Given the description of an element on the screen output the (x, y) to click on. 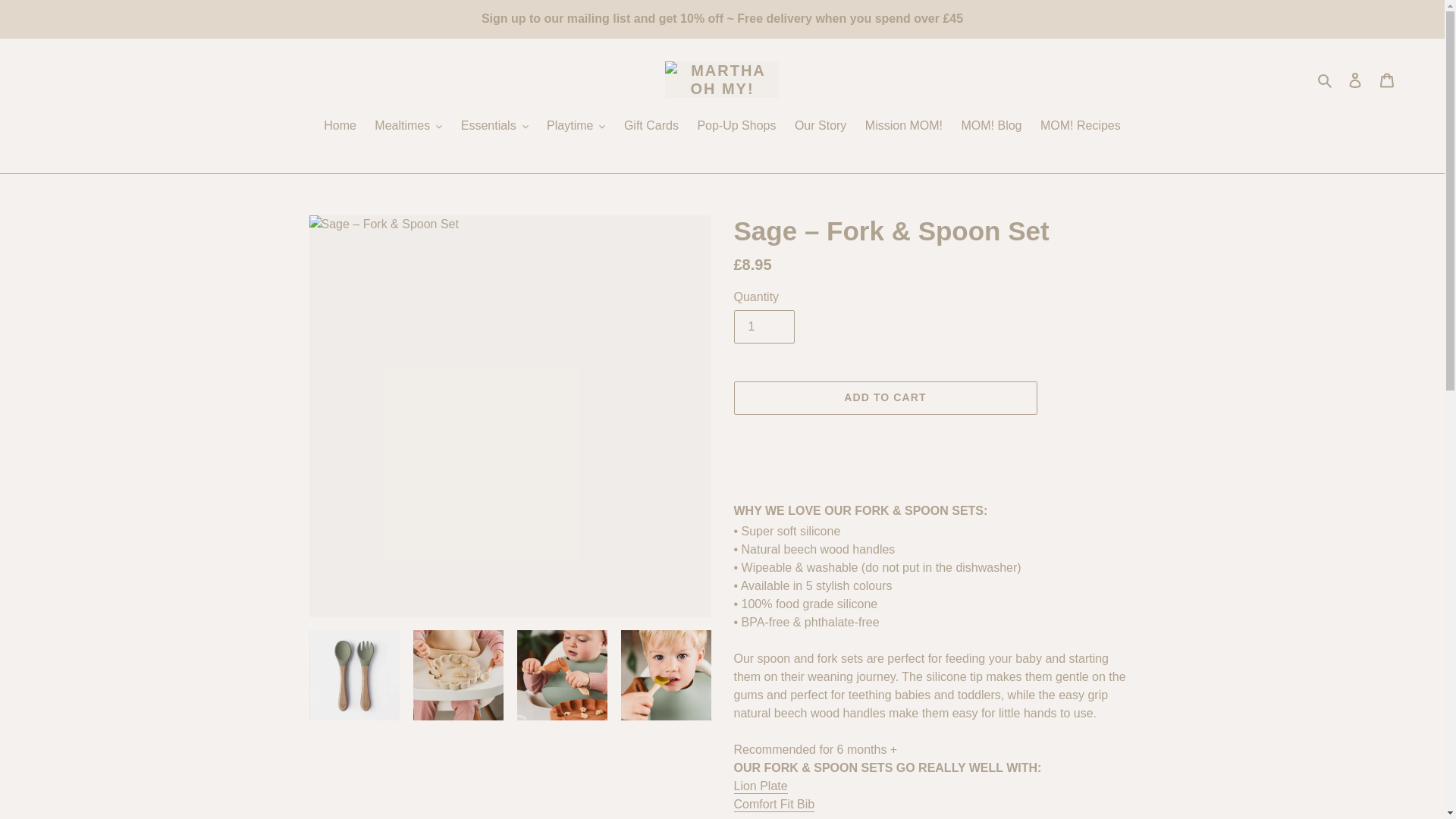
Log in (1355, 79)
1 (763, 326)
Cart (1387, 79)
Comfort Fit Bib (774, 804)
Lion Plate (760, 786)
Search (1326, 79)
